Given the description of an element on the screen output the (x, y) to click on. 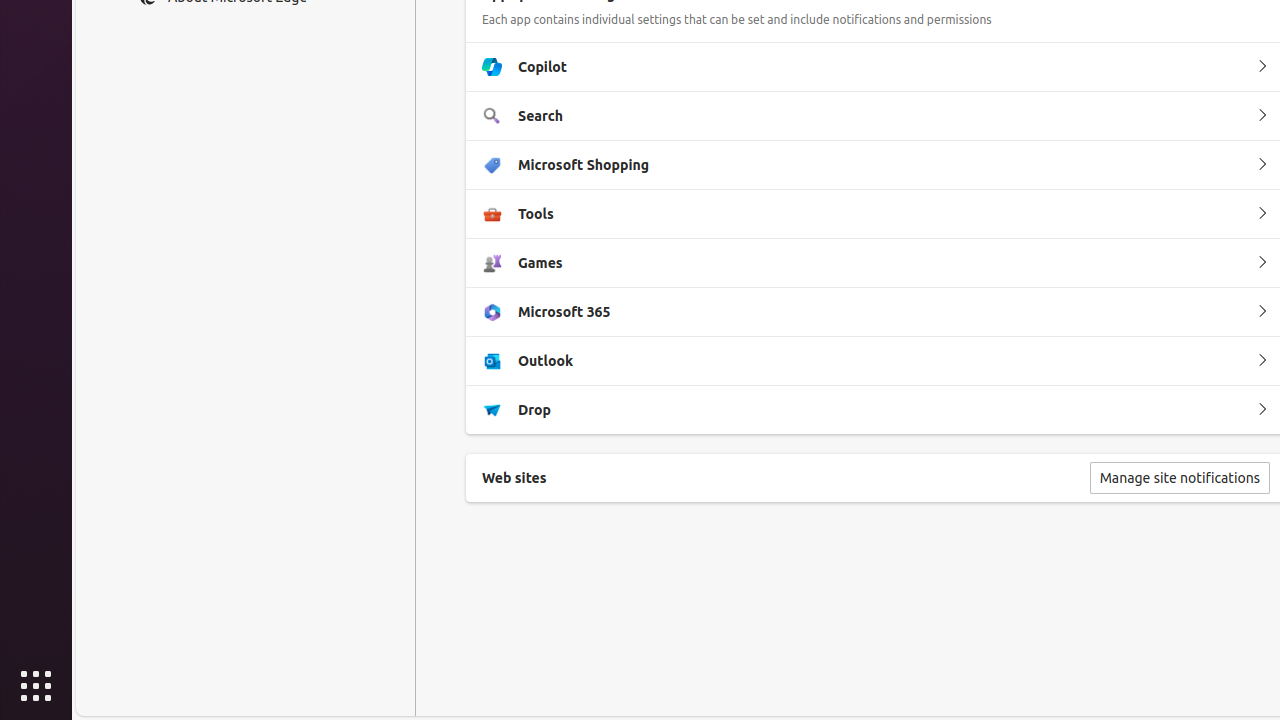
Games Element type: push-button (1262, 263)
Drop Element type: push-button (1262, 409)
Outlook Element type: push-button (1262, 361)
Search Element type: push-button (1262, 115)
Show Applications Element type: toggle-button (36, 686)
